Given the description of an element on the screen output the (x, y) to click on. 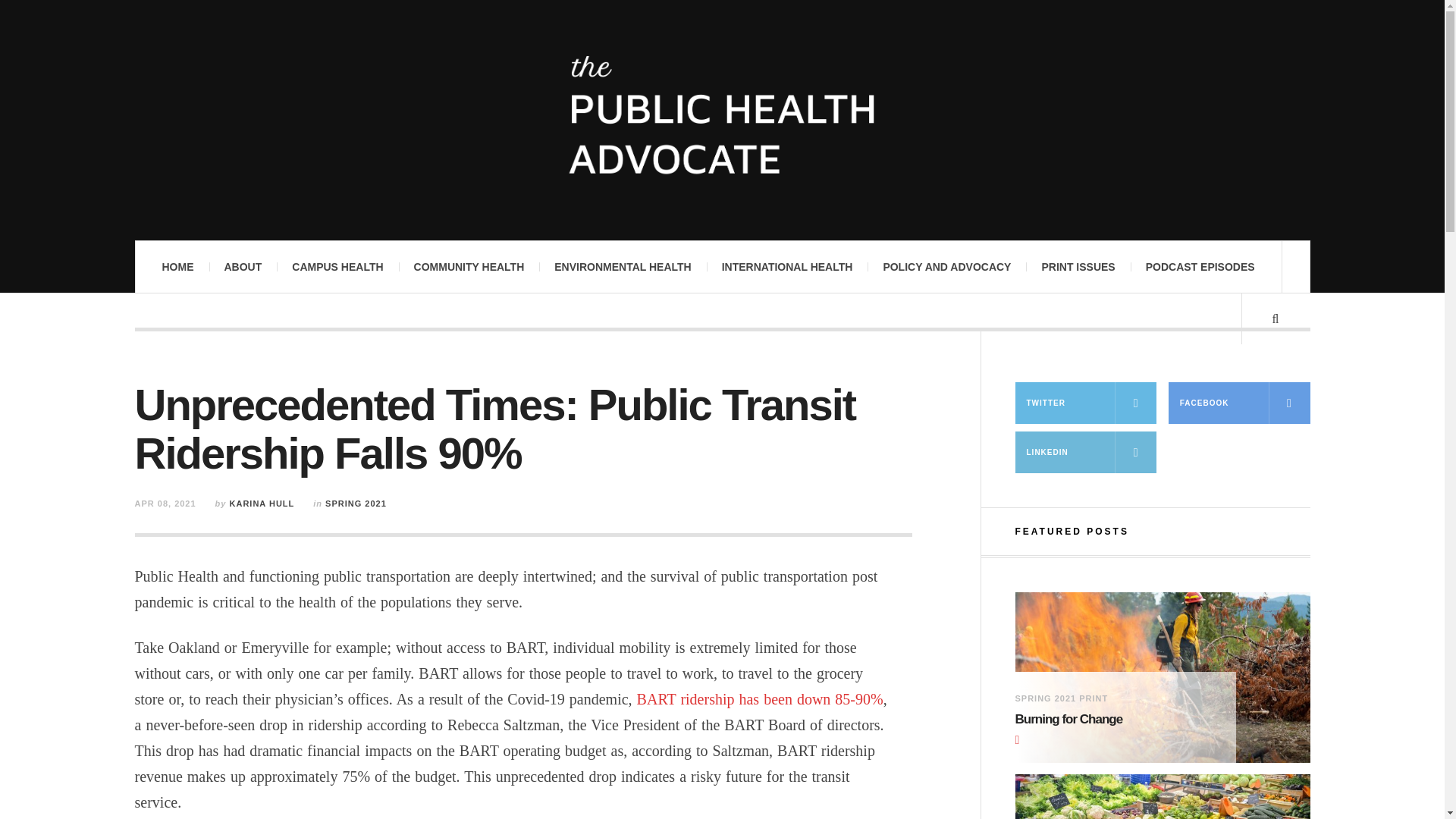
CAMPUS HEALTH (336, 266)
KARINA HULL (262, 502)
TWITTER (1085, 403)
LINKEDIN (1085, 452)
View all posts in Spring 2021 Print (1061, 697)
Burning for Change (1113, 719)
ABOUT (243, 266)
COMMUNITY HEALTH (469, 266)
HOME (178, 266)
The Public Health Advocate (722, 118)
SPRING 2021 (355, 502)
INTERNATIONAL HEALTH (786, 266)
ENVIRONMENTAL HEALTH (622, 266)
View all posts in Spring 2021 (355, 502)
PRINT ISSUES (1077, 266)
